Given the description of an element on the screen output the (x, y) to click on. 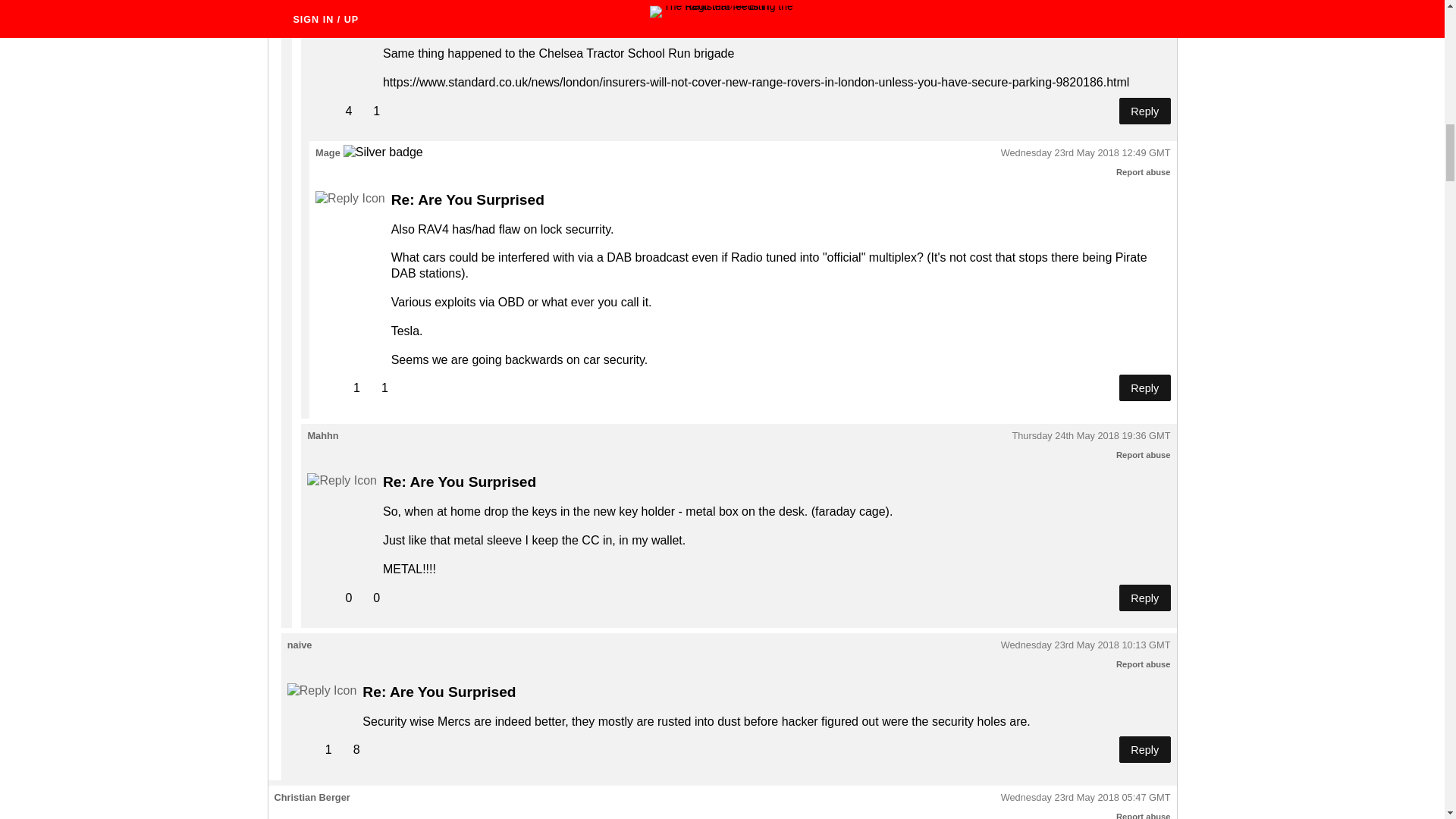
Report abuse (1143, 171)
Report abuse (1143, 664)
Report abuse (1143, 815)
Report abuse (1143, 454)
